Given the description of an element on the screen output the (x, y) to click on. 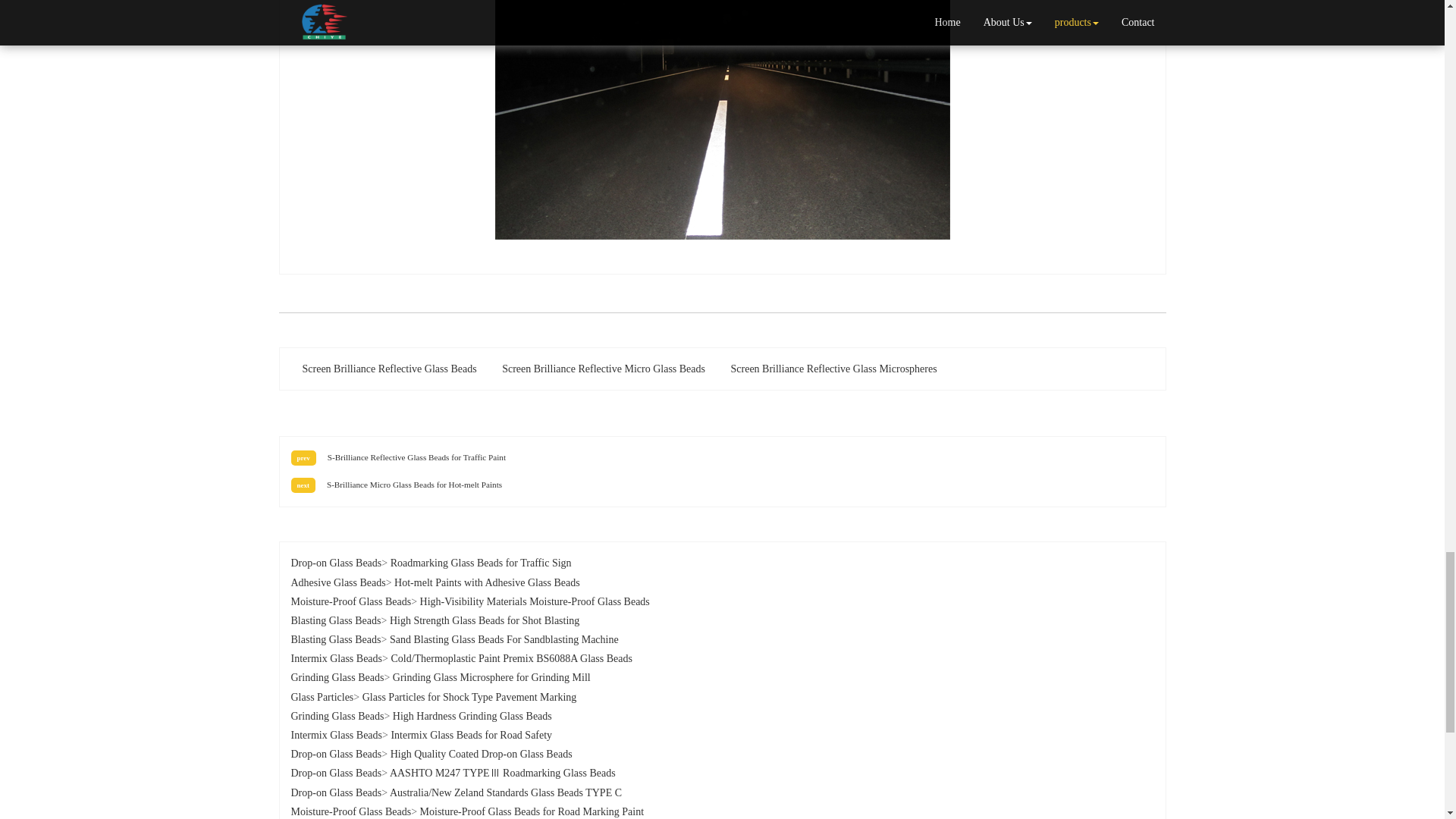
Blasting Glass Beads (336, 620)
Screen Brilliance Reflective Glass Beads (389, 368)
High-Visibility Materials Moisture-Proof Glass Beads (534, 601)
S-Brilliance Reflective Glass Beads for Traffic Paint (416, 456)
Screen Brilliance Reflective Glass Microspheres (833, 368)
Screen Brilliance Reflective Micro Glass Beads (603, 368)
Hot-melt Paints with Adhesive Glass Beads (486, 582)
S-Brilliance Micro Glass Beads for Hot-melt Paints (414, 483)
Drop-on Glass Beads (336, 562)
Adhesive Glass Beads (338, 582)
Roadmarking Glass Beads for Traffic Sign (481, 562)
Moisture-Proof Glass Beads (351, 601)
